Given the description of an element on the screen output the (x, y) to click on. 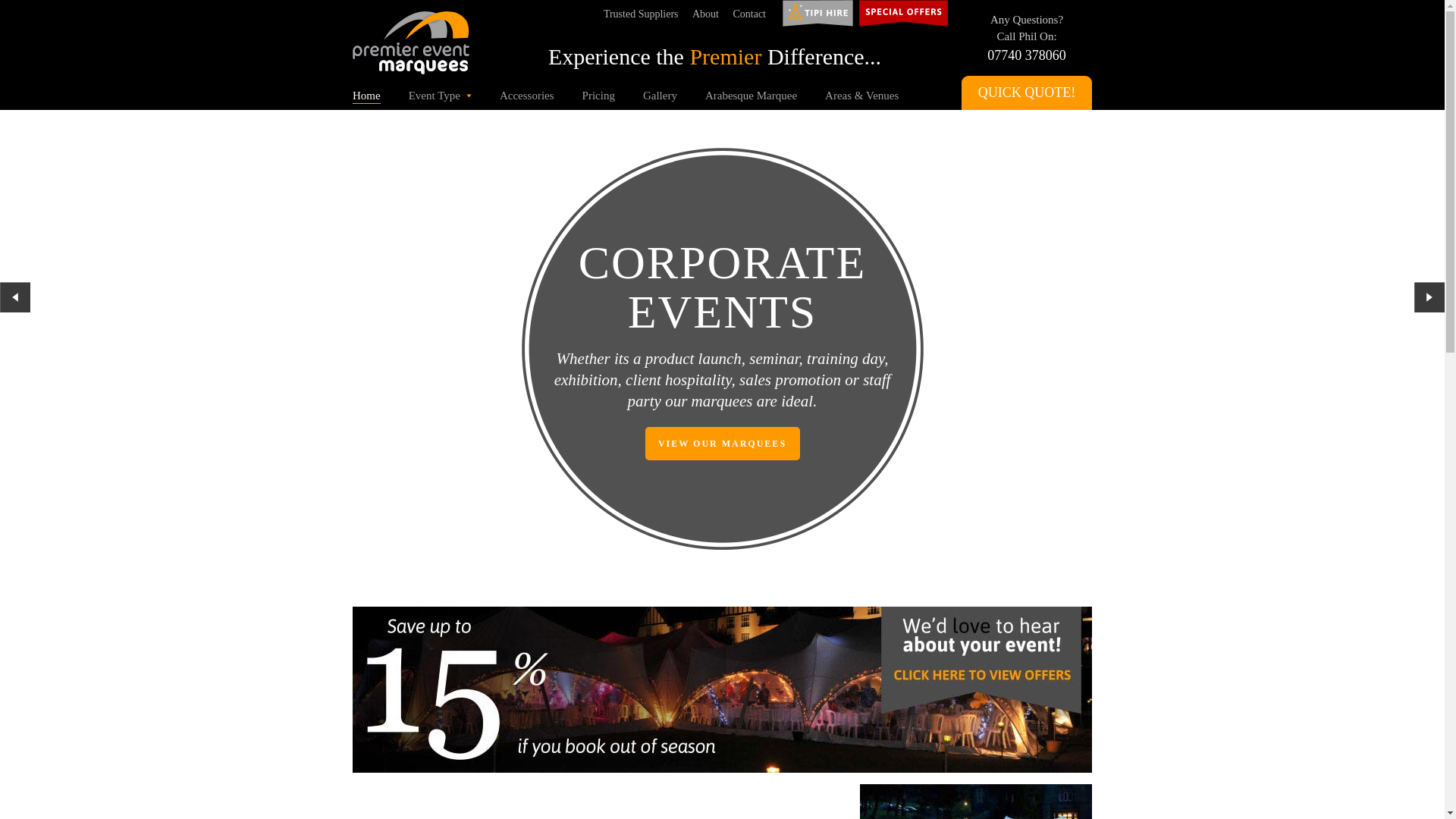
PREMIER EVENT MARQUEES (727, 68)
